Given the description of an element on the screen output the (x, y) to click on. 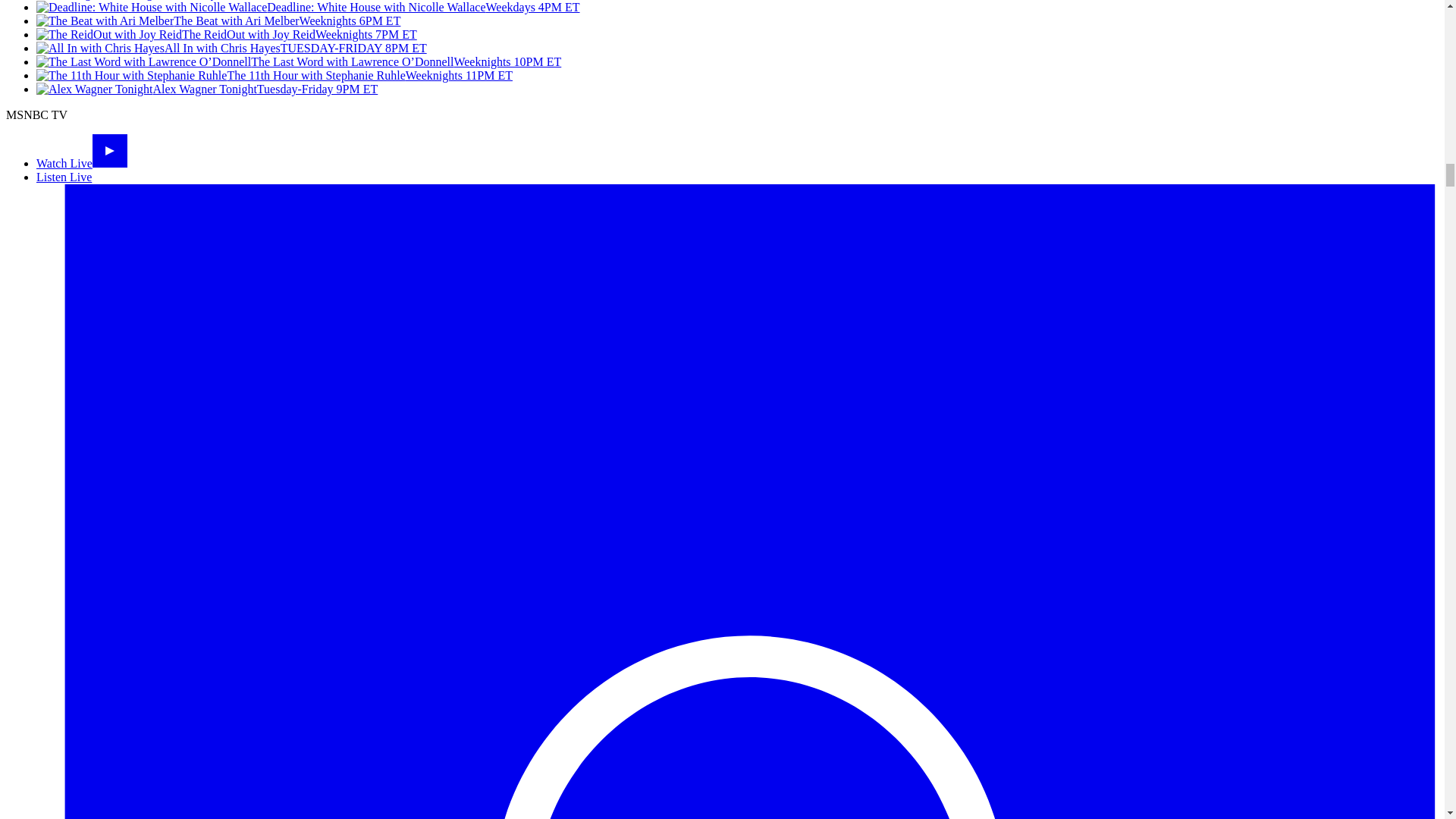
Alex Wagner TonightTuesday-Friday 9PM ET (206, 88)
The 11th Hour with Stephanie RuhleWeeknights 11PM ET (274, 74)
All In with Chris HayesTUESDAY-FRIDAY 8PM ET (231, 47)
Watch Live (82, 163)
Deadline: White House with Nicolle WallaceWeekdays 4PM ET (307, 6)
The Beat with Ari MelberWeeknights 6PM ET (218, 20)
The ReidOut with Joy ReidWeeknights 7PM ET (226, 33)
